Given the description of an element on the screen output the (x, y) to click on. 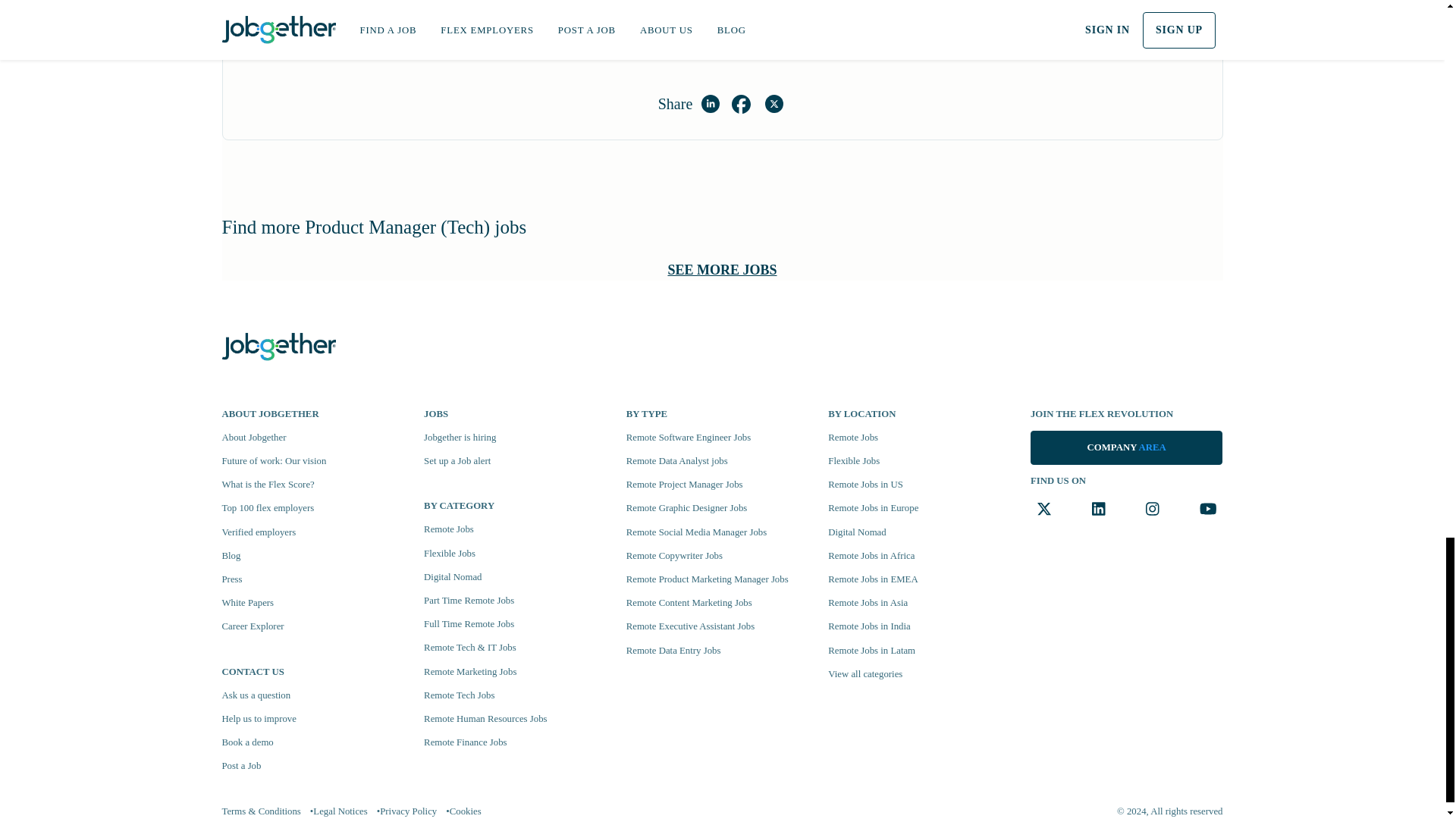
Return to home page (277, 344)
Share on Linkedin (710, 104)
Share on Facebook (740, 104)
Share on Twitter (774, 104)
